Given the description of an element on the screen output the (x, y) to click on. 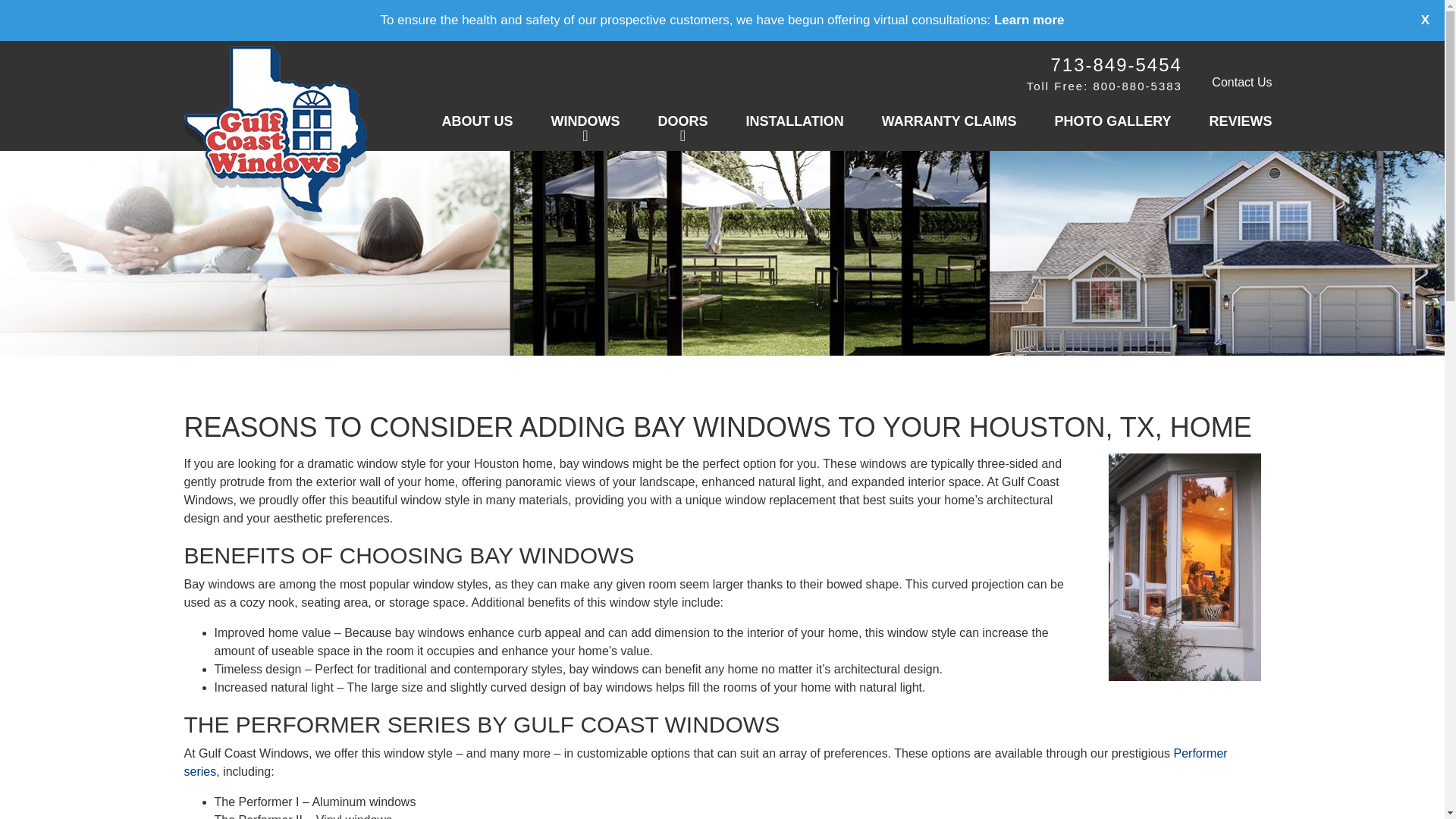
Contact Us (1241, 82)
DOORS (681, 123)
Gulf Coast Windows (274, 132)
Toll Free: 800-880-5383 (1104, 85)
X (1412, 28)
713-849-5454 (1114, 64)
Learn more (1029, 20)
ABOUT US (476, 123)
WINDOWS (585, 123)
